Given the description of an element on the screen output the (x, y) to click on. 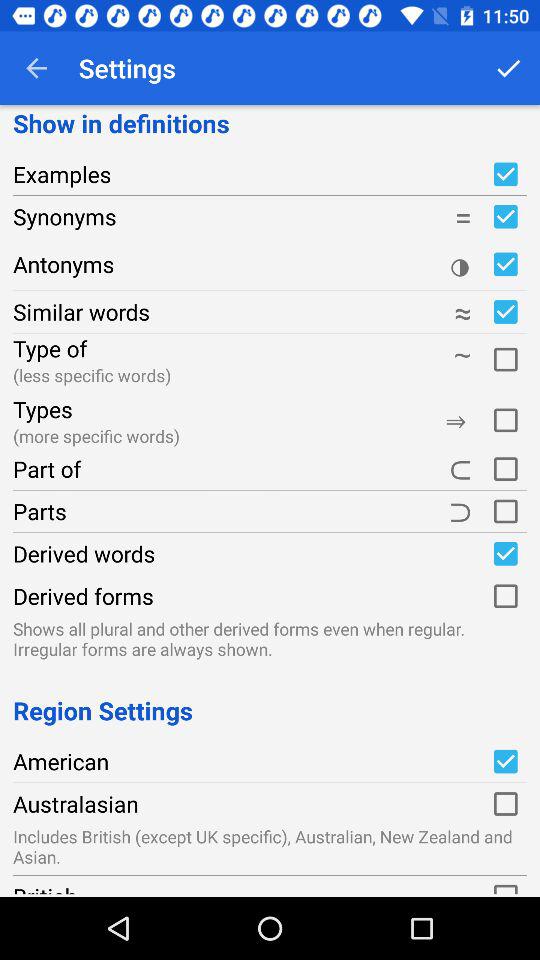
toggle parts category (505, 511)
